Given the description of an element on the screen output the (x, y) to click on. 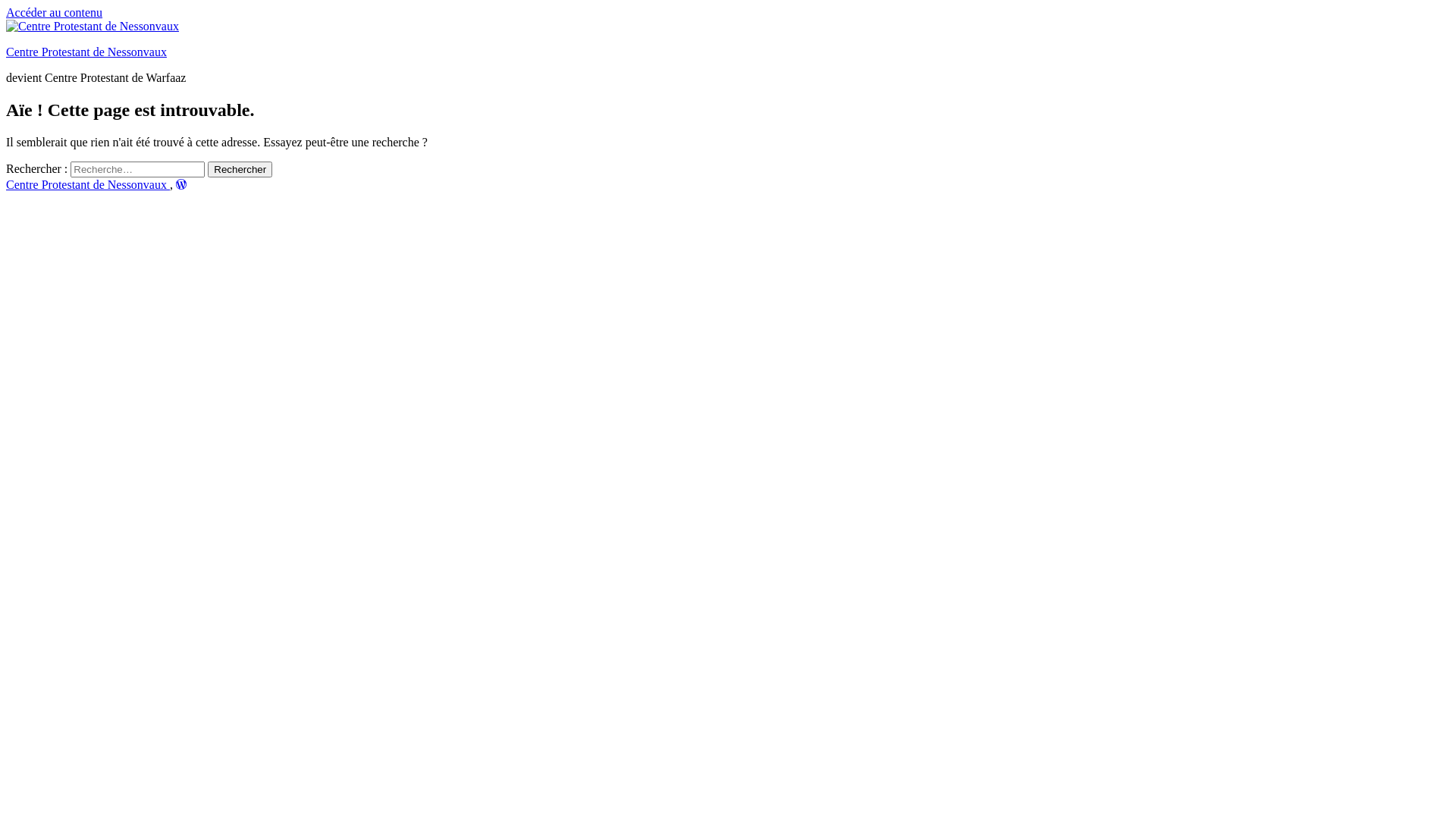
Centre Protestant de Nessonvaux Element type: text (86, 51)
Centre Protestant de Nessonvaux Element type: text (87, 184)
Rechercher Element type: text (239, 169)
